Given the description of an element on the screen output the (x, y) to click on. 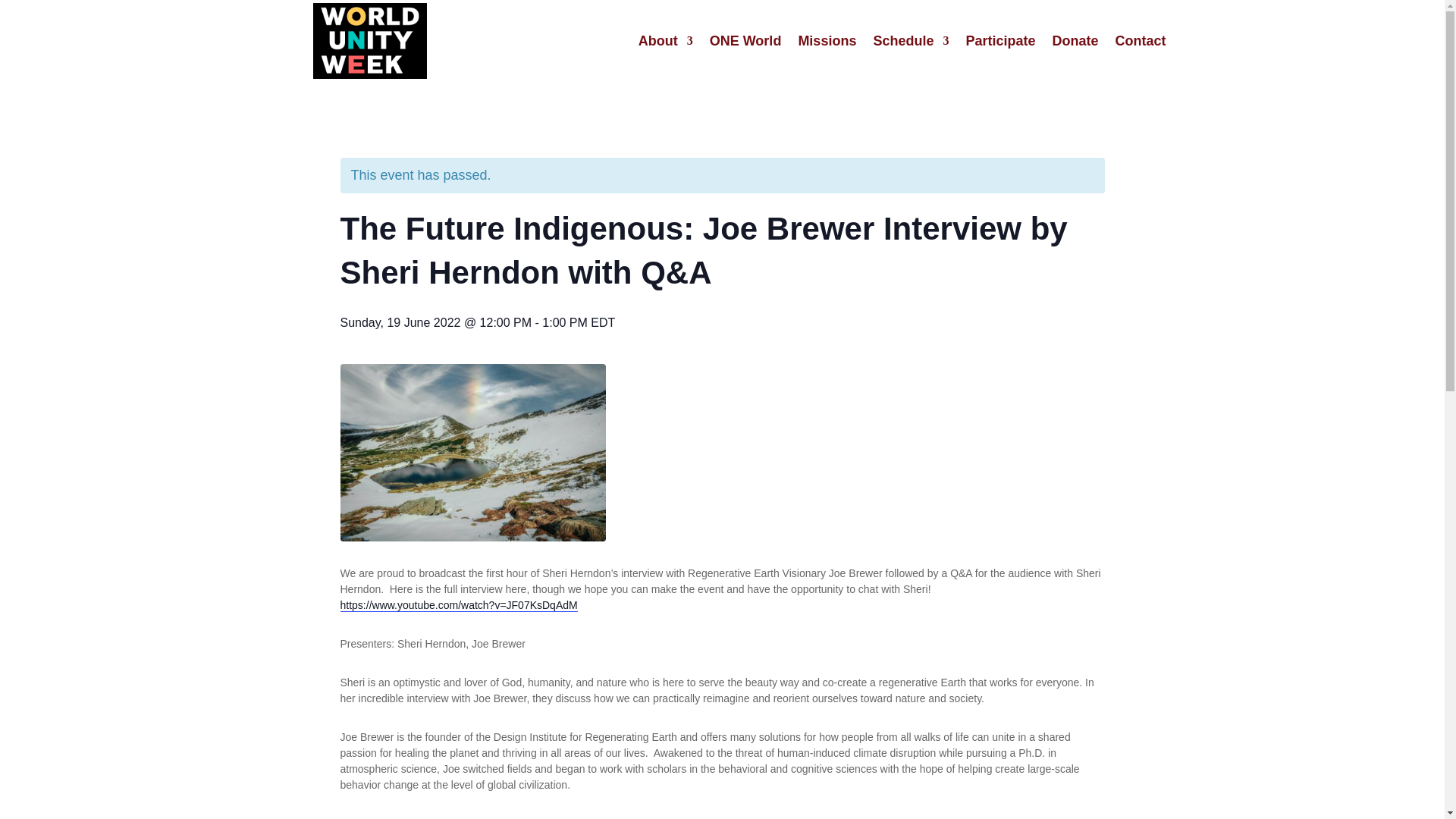
Schedule (910, 40)
ONE World (745, 40)
Participate (1000, 40)
